Given the description of an element on the screen output the (x, y) to click on. 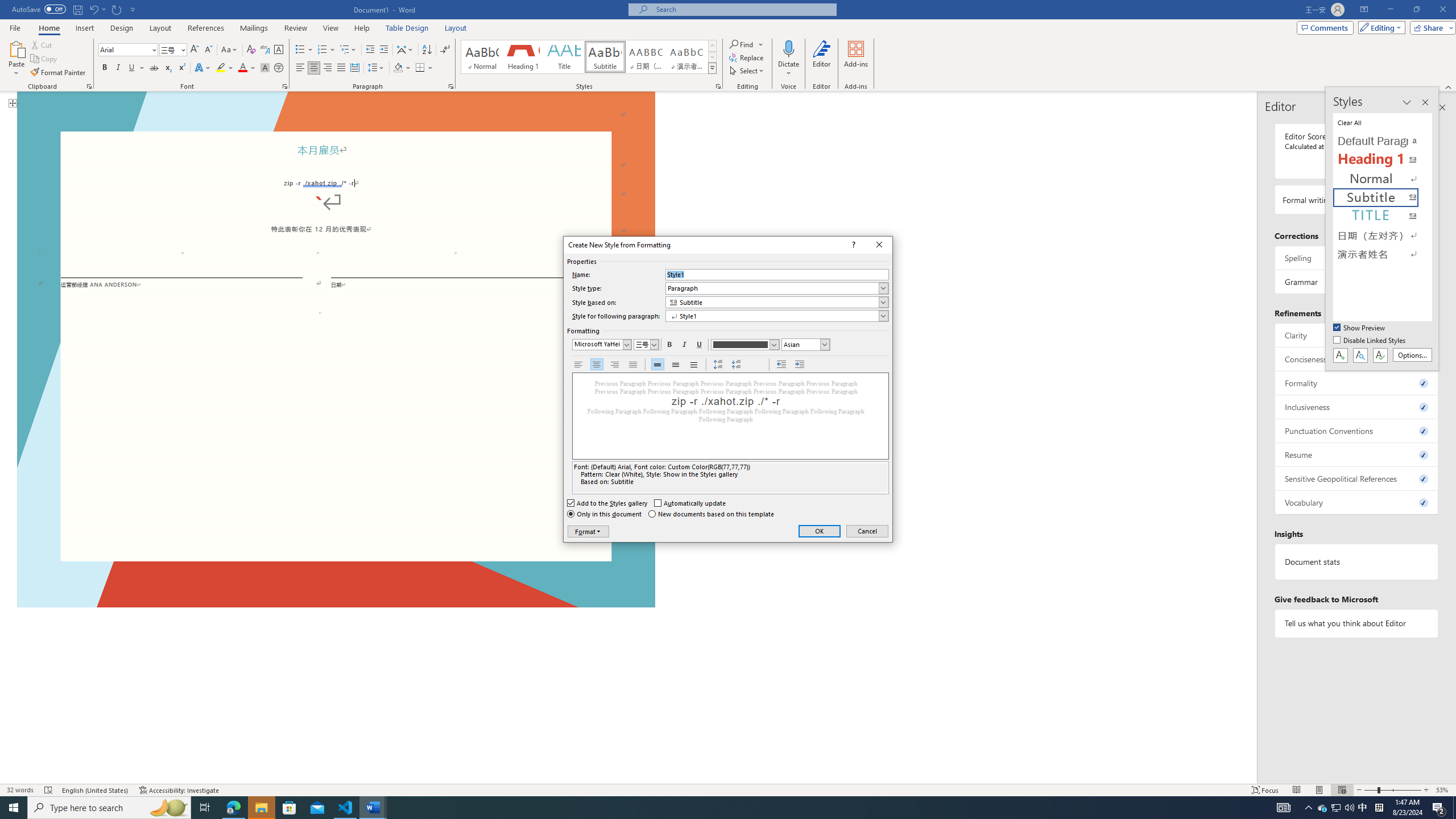
User Promoted Notification Area (1336, 807)
Tell us what you think about Editor (1356, 623)
Options... (1412, 354)
Q2790: 100% (1349, 807)
Spelling, 0 issues. Press space or enter to review items. (1356, 257)
